Given the description of an element on the screen output the (x, y) to click on. 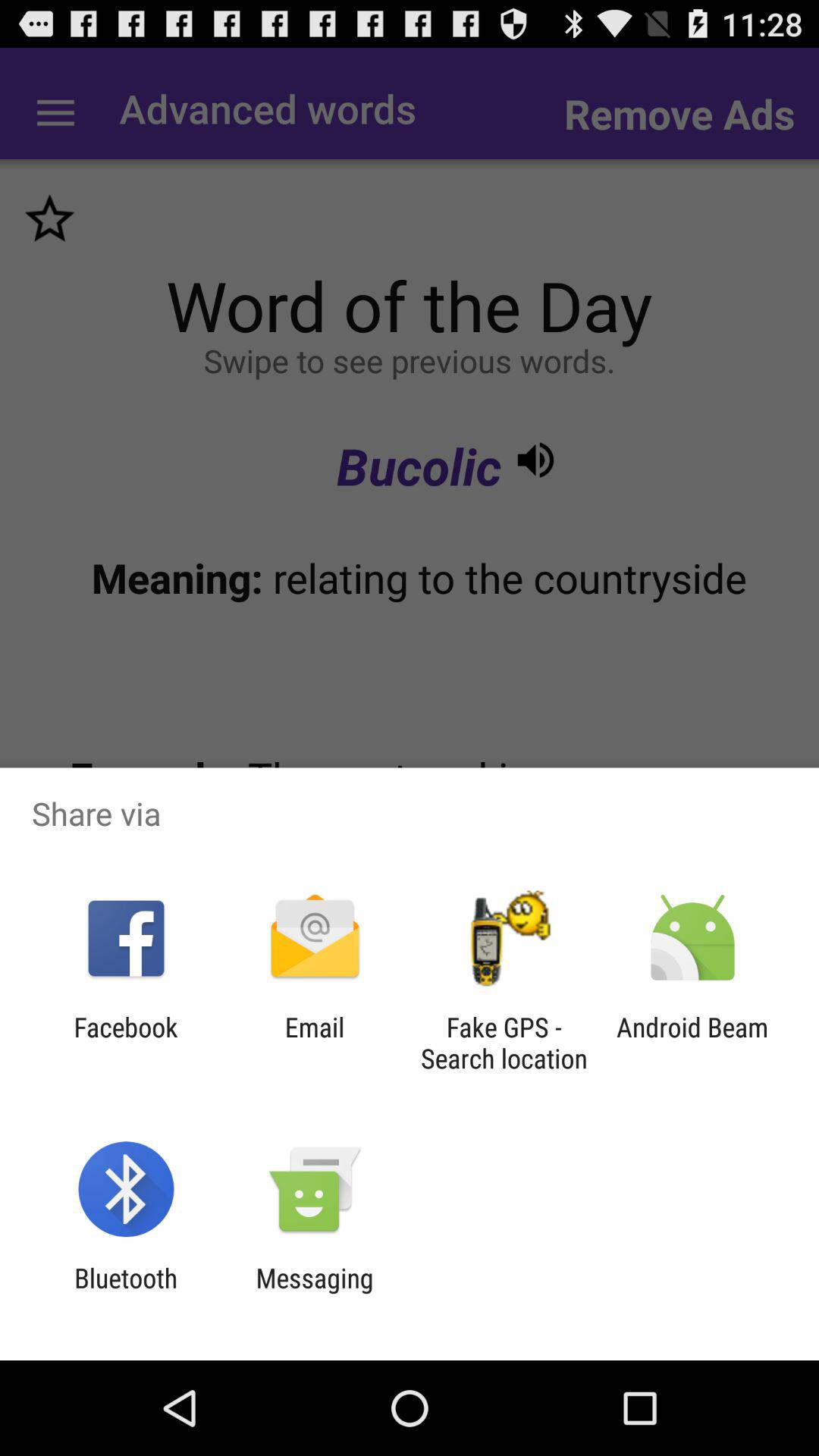
open the fake gps search icon (503, 1042)
